Given the description of an element on the screen output the (x, y) to click on. 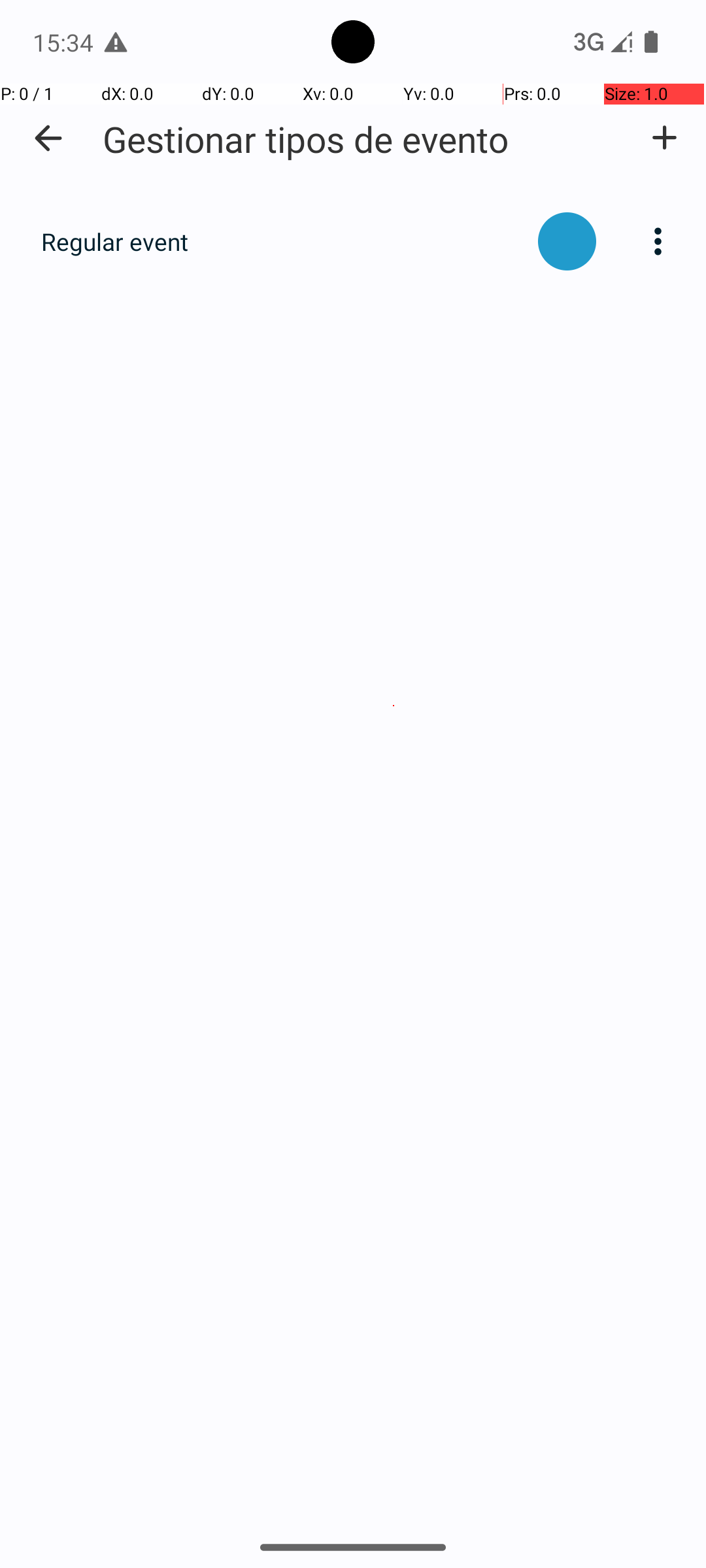
Gestionar tipos de evento Element type: android.widget.TextView (305, 138)
Agregar un nuevo tipo de evento Element type: android.widget.Button (664, 137)
Regular event Element type: android.widget.TextView (282, 241)
